Given the description of an element on the screen output the (x, y) to click on. 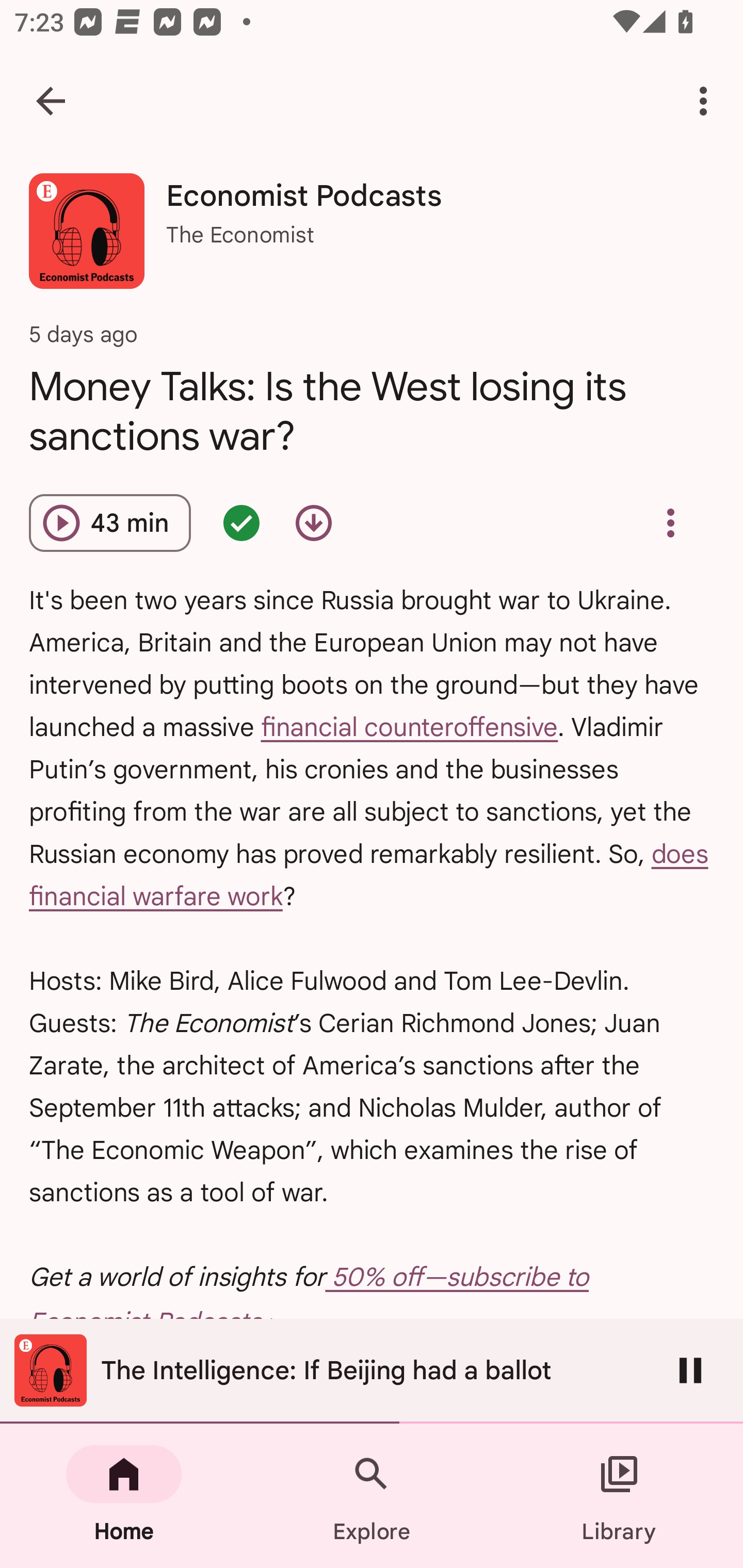
Navigate up (50, 101)
More options (706, 101)
Episode queued - double tap for options (241, 522)
Download episode (313, 522)
Overflow menu (670, 522)
Pause (690, 1370)
Explore (371, 1495)
Library (619, 1495)
